Given the description of an element on the screen output the (x, y) to click on. 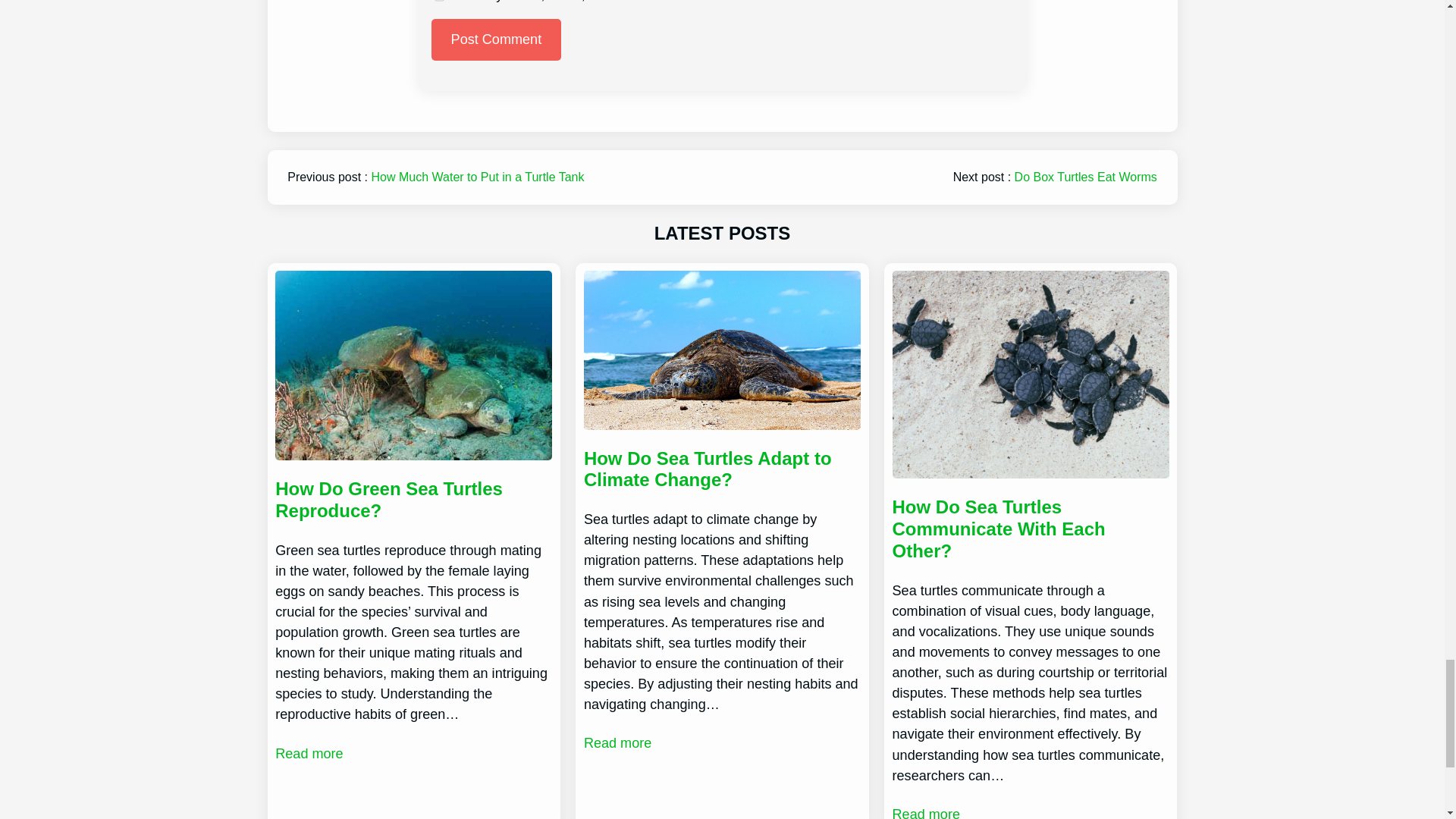
Read more (308, 753)
How Do Green Sea Turtles Reproduce? (413, 500)
Read more (925, 811)
Read more (616, 743)
Do Box Turtles Eat Worms (1085, 176)
How Do Sea Turtles Adapt to Climate Change? (721, 469)
yes (438, 1)
Post Comment (495, 39)
How Much Water to Put in a Turtle Tank (478, 176)
Post Comment (495, 39)
How Do Sea Turtles Communicate With Each Other? (1030, 528)
